Given the description of an element on the screen output the (x, y) to click on. 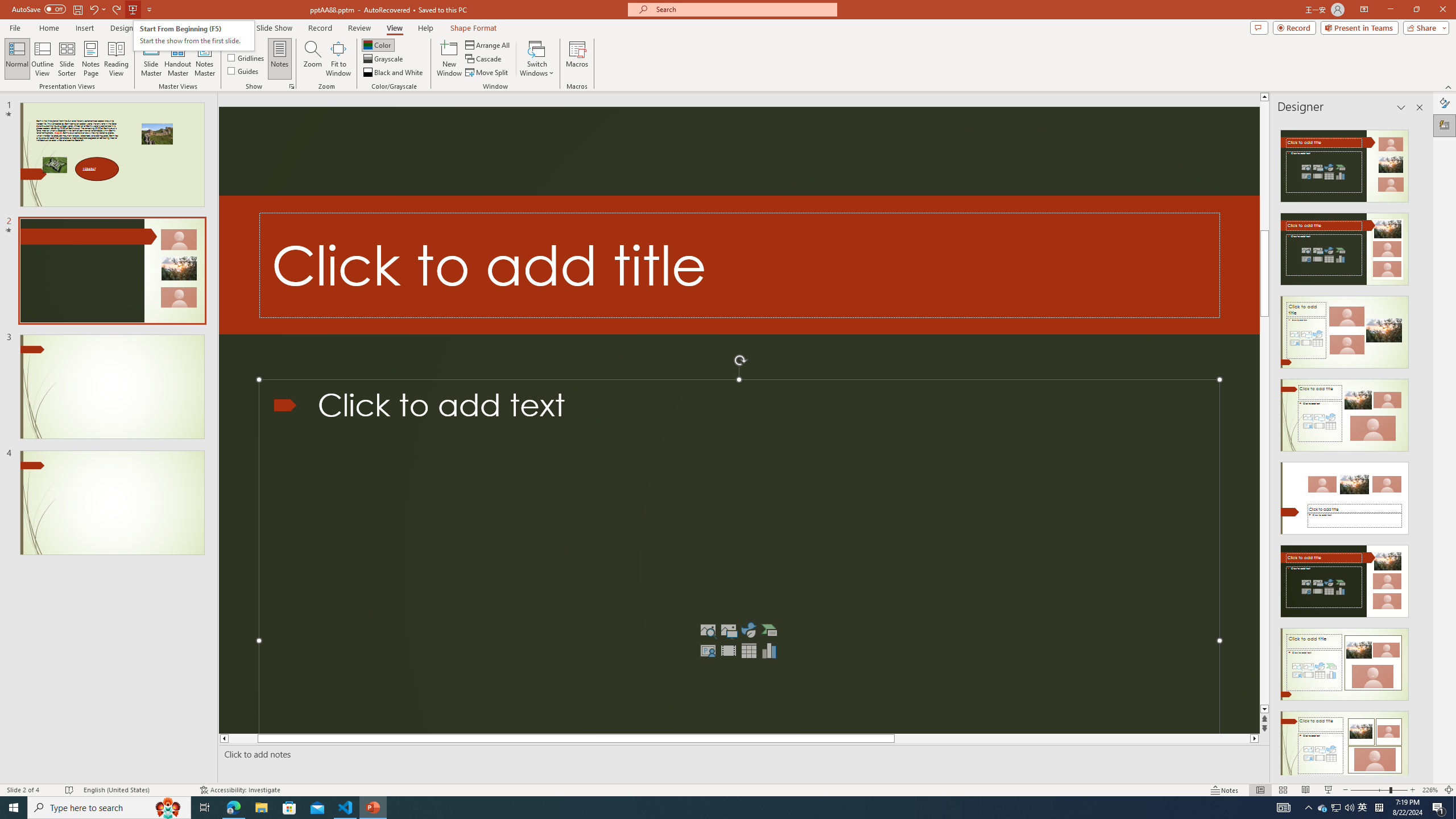
Outline View (42, 58)
Color (377, 44)
